Given the description of an element on the screen output the (x, y) to click on. 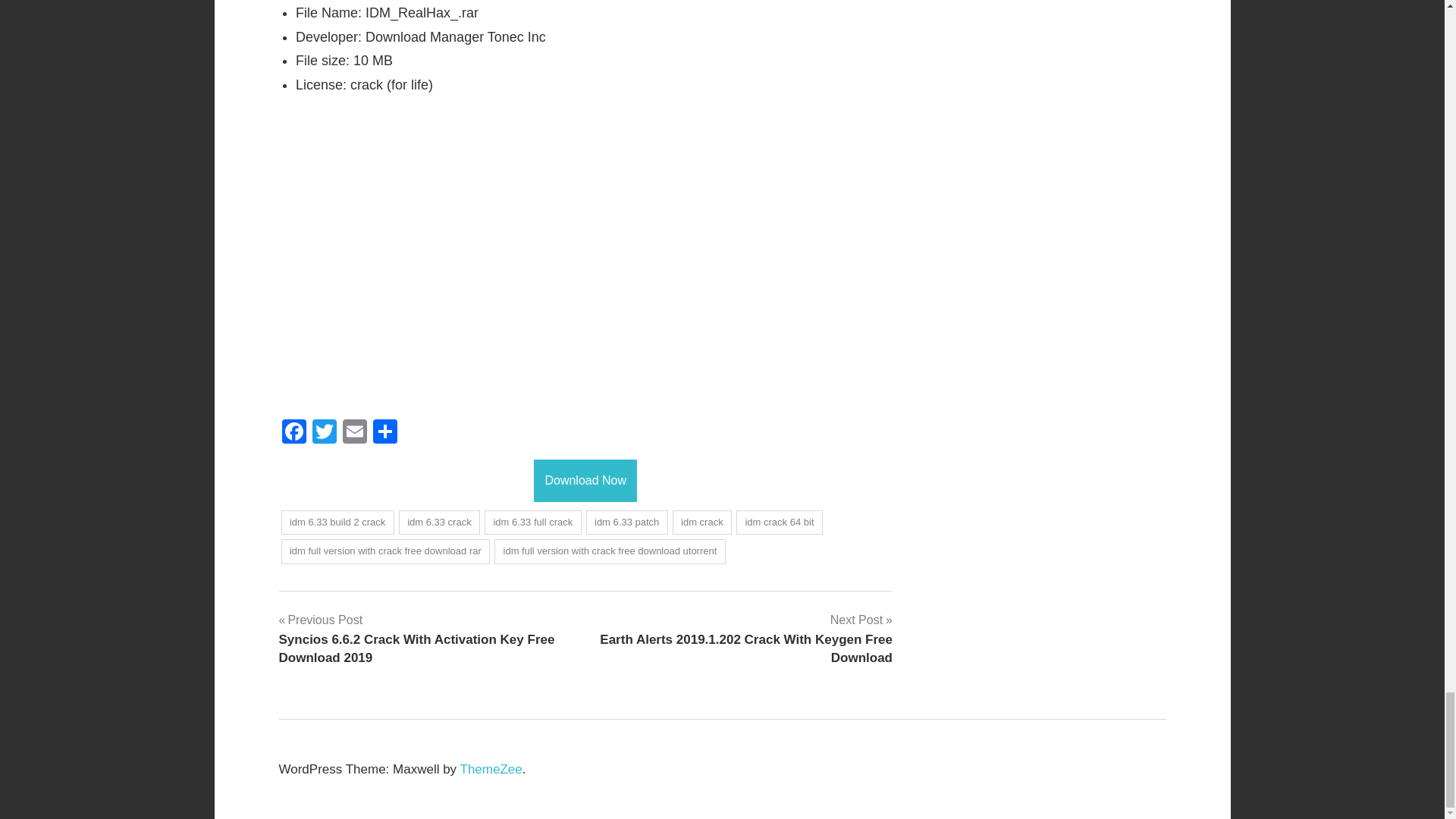
idm 6.33 full crack (532, 522)
ThemeZee (491, 769)
Download Now (585, 480)
Email (354, 433)
Twitter (323, 433)
idm 6.33 build 2 crack (337, 522)
Email (354, 433)
idm full version with crack free download utorrent (610, 551)
Facebook (293, 433)
